Given the description of an element on the screen output the (x, y) to click on. 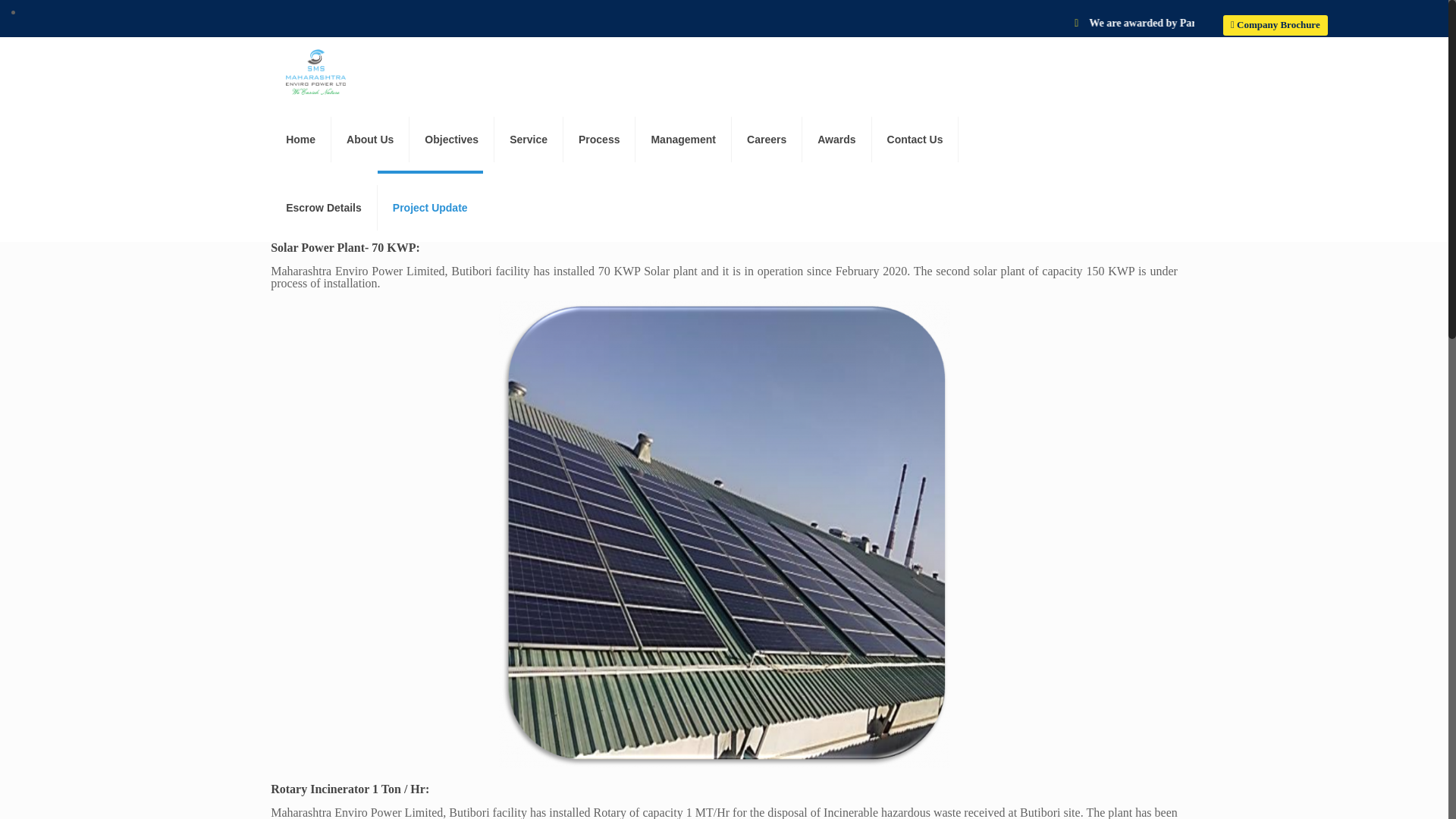
Process (598, 139)
Service (529, 139)
About Us (370, 139)
Awards (836, 139)
Management (683, 139)
Careers (767, 139)
Company Brochure (1275, 25)
Project Update (430, 207)
Objectives (452, 139)
Escrow Details (323, 207)
